Given the description of an element on the screen output the (x, y) to click on. 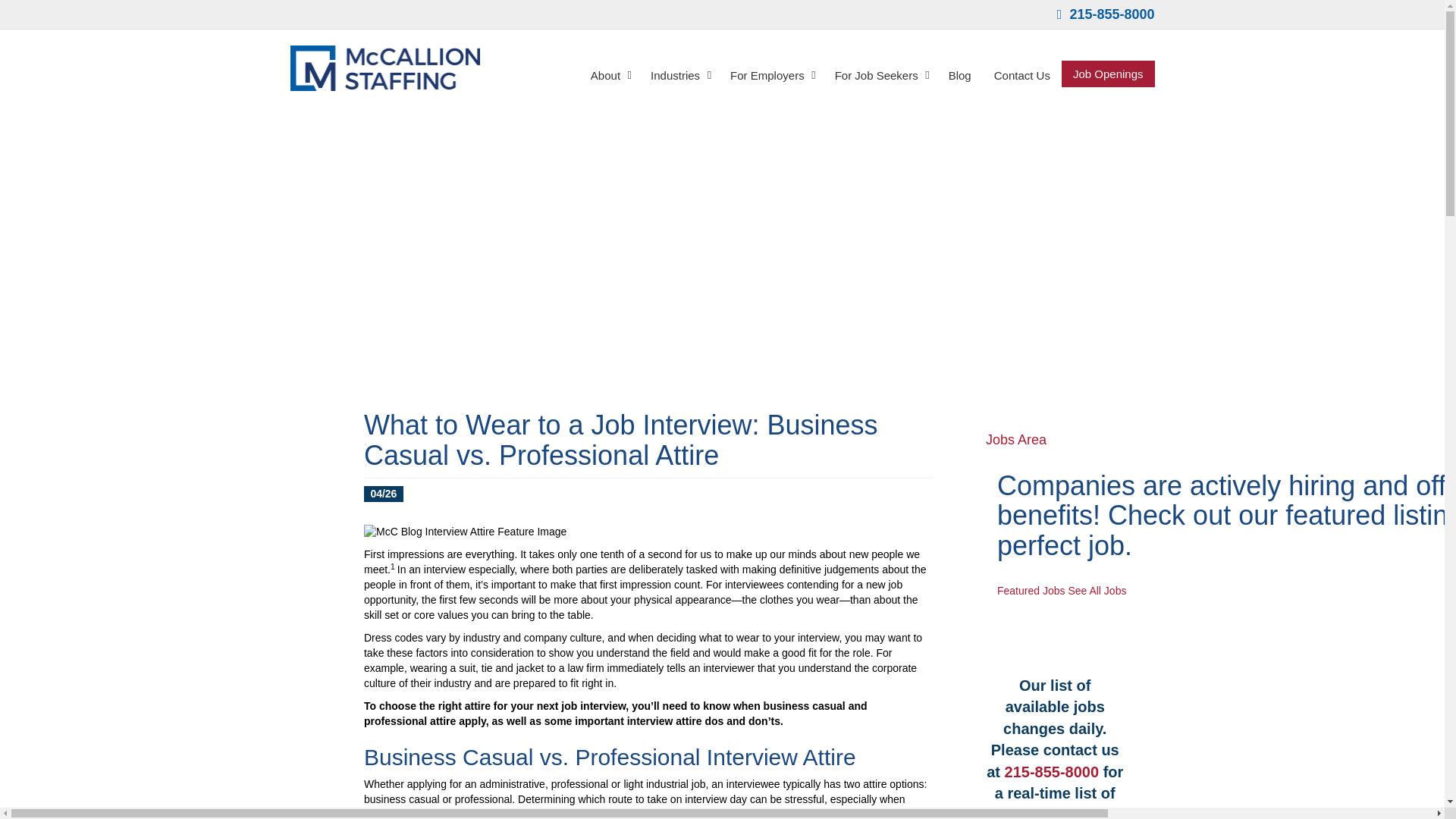
McCallion Staffing (384, 67)
Blog (959, 74)
Industries (679, 74)
Job Openings (1107, 73)
See All Jobs (1096, 590)
Featured Jobs (1031, 590)
Contact Us (1021, 74)
For Employers (771, 74)
About (609, 74)
For Job Seekers (880, 74)
